Given the description of an element on the screen output the (x, y) to click on. 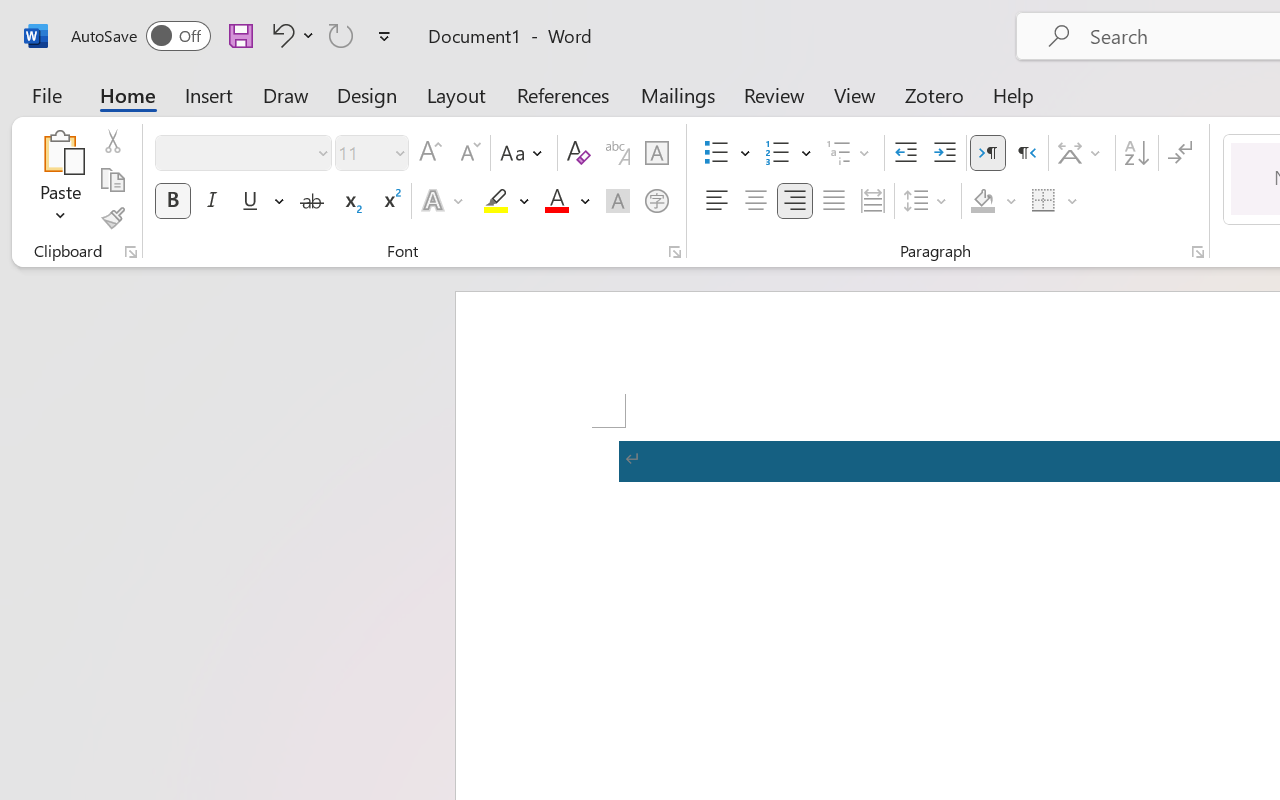
Right-to-Left (1026, 153)
Repeat TCSCTranslate (341, 35)
